Given the description of an element on the screen output the (x, y) to click on. 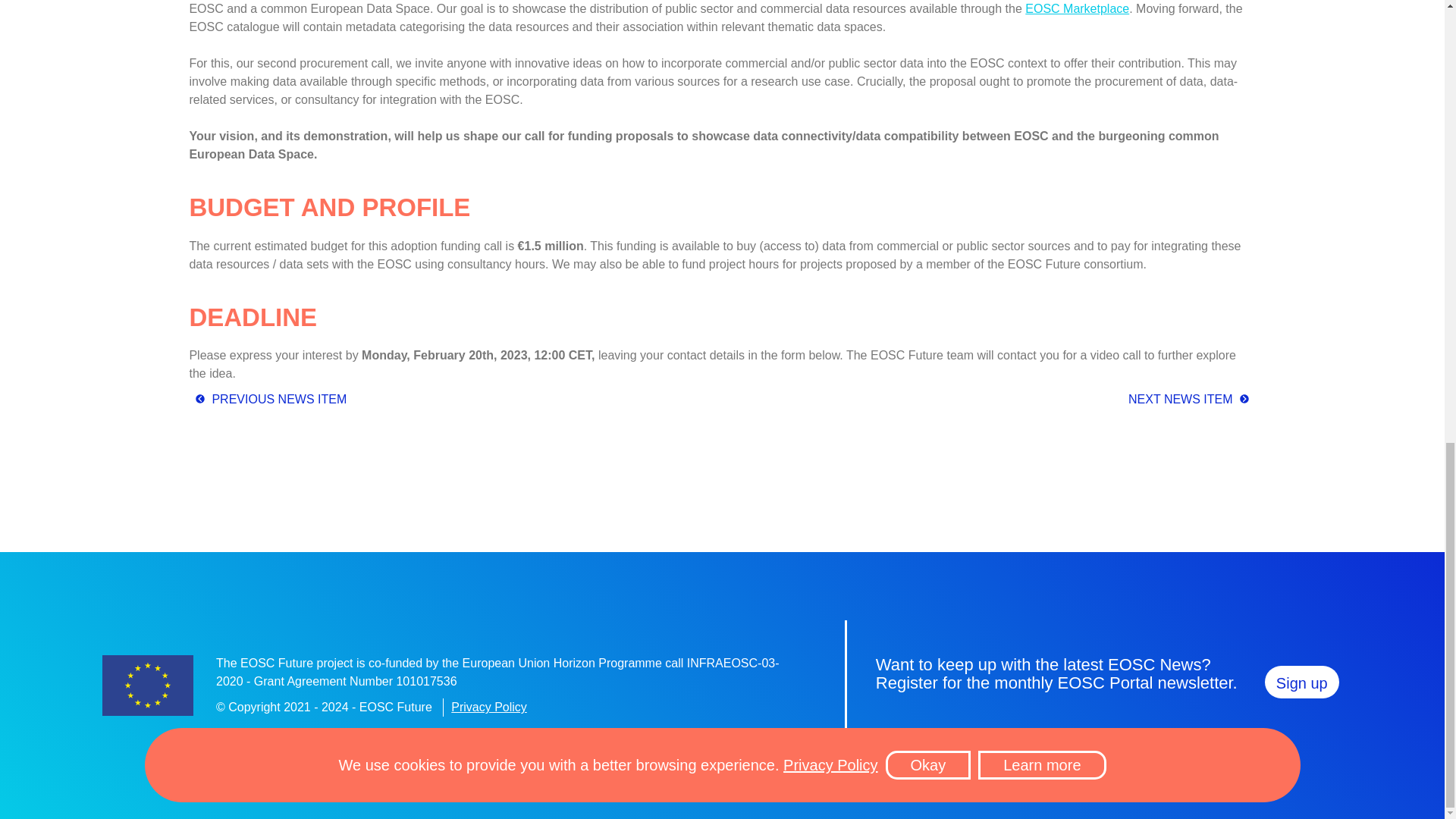
Privacy Policy (489, 707)
PREVIOUS NEWS ITEM (267, 399)
EOSC Marketplace (1077, 8)
Sign up (1302, 681)
Sign up to the newsletter (1302, 681)
NEXT NEWS ITEM (1191, 399)
